Given the description of an element on the screen output the (x, y) to click on. 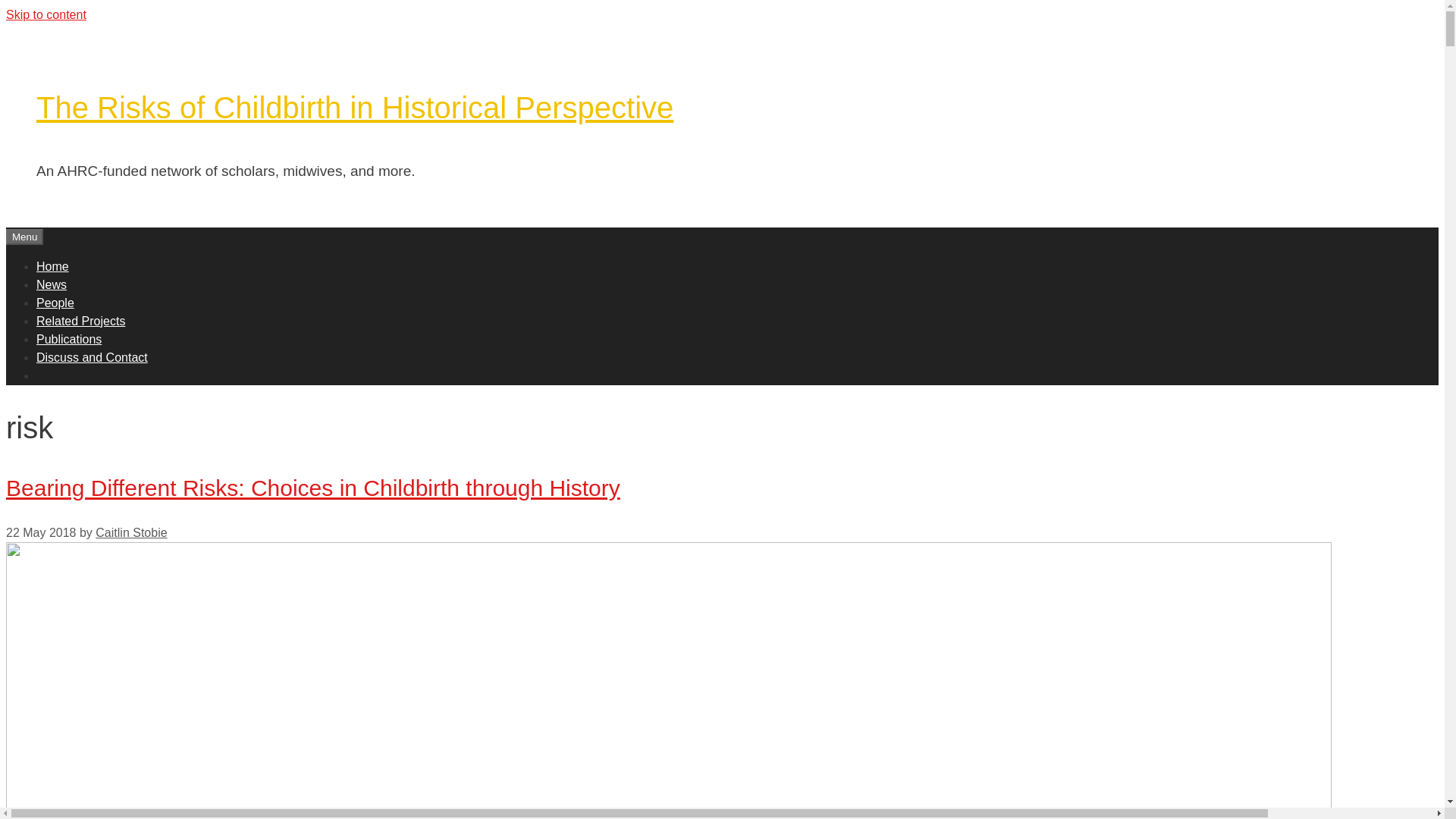
Caitlin Stobie (131, 532)
View all posts by Caitlin Stobie (131, 532)
Skip to content (45, 14)
Related Projects (80, 319)
The Risks of Childbirth in Historical Perspective (354, 107)
People (55, 301)
Home (52, 265)
Publications (68, 338)
Menu (24, 236)
Skip to content (45, 14)
News (51, 283)
Discuss and Contact (92, 356)
